Given the description of an element on the screen output the (x, y) to click on. 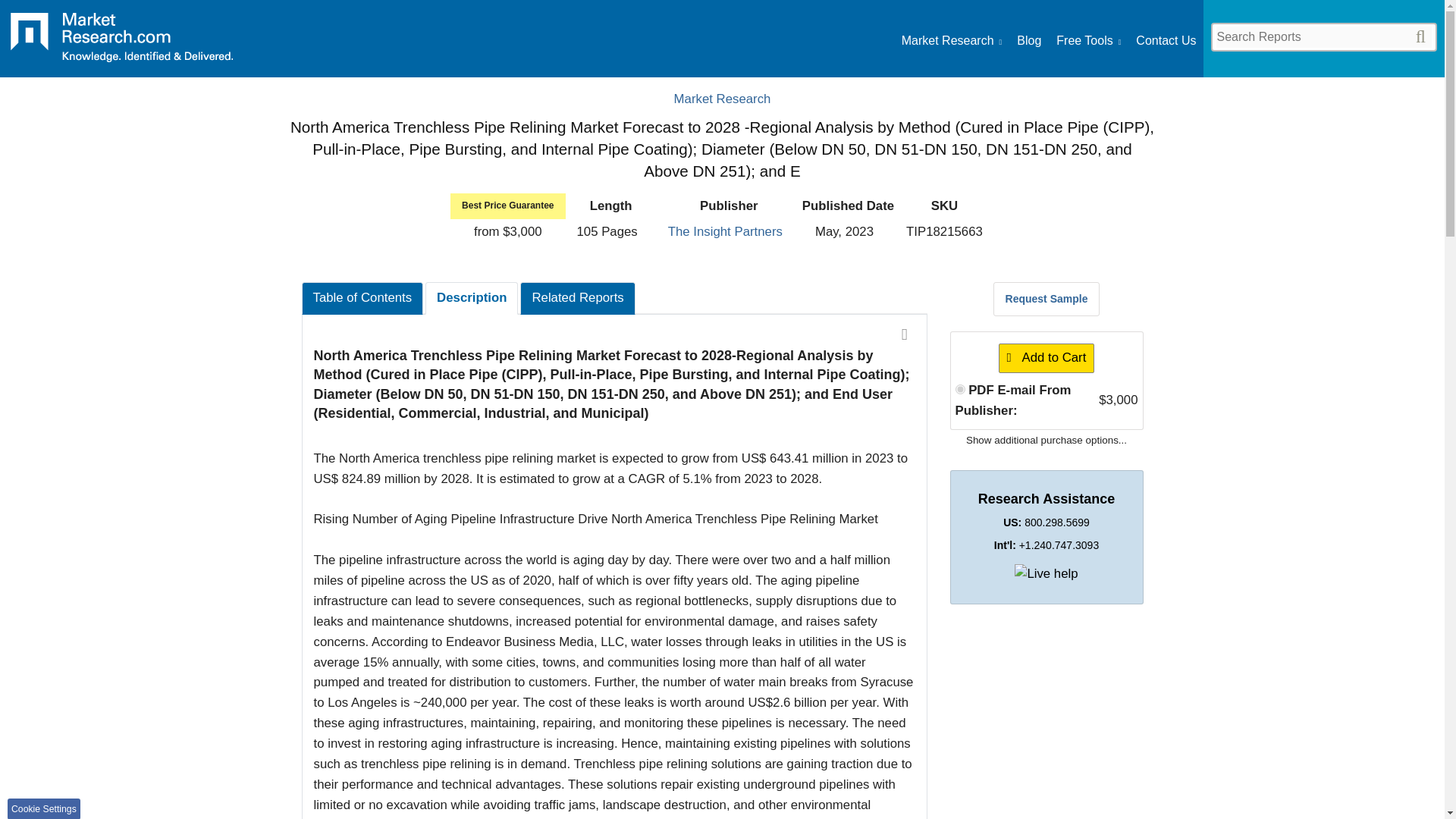
Table of Contents (362, 297)
Market Research (951, 40)
35093493 (960, 388)
Browse Market Research Industries (951, 40)
Request Sample (1046, 298)
Learn more about market research with these free tools (1089, 40)
Stay up-to-date on the latest in market research (1028, 40)
Related Reports (576, 297)
Show additional purchase options... (1046, 439)
Market Research (722, 98)
Market Research (121, 42)
Free Tools (1089, 40)
Get in touch with MarketResearch.com (1165, 40)
Add to Cart (1046, 358)
Blog (1028, 40)
